Given the description of an element on the screen output the (x, y) to click on. 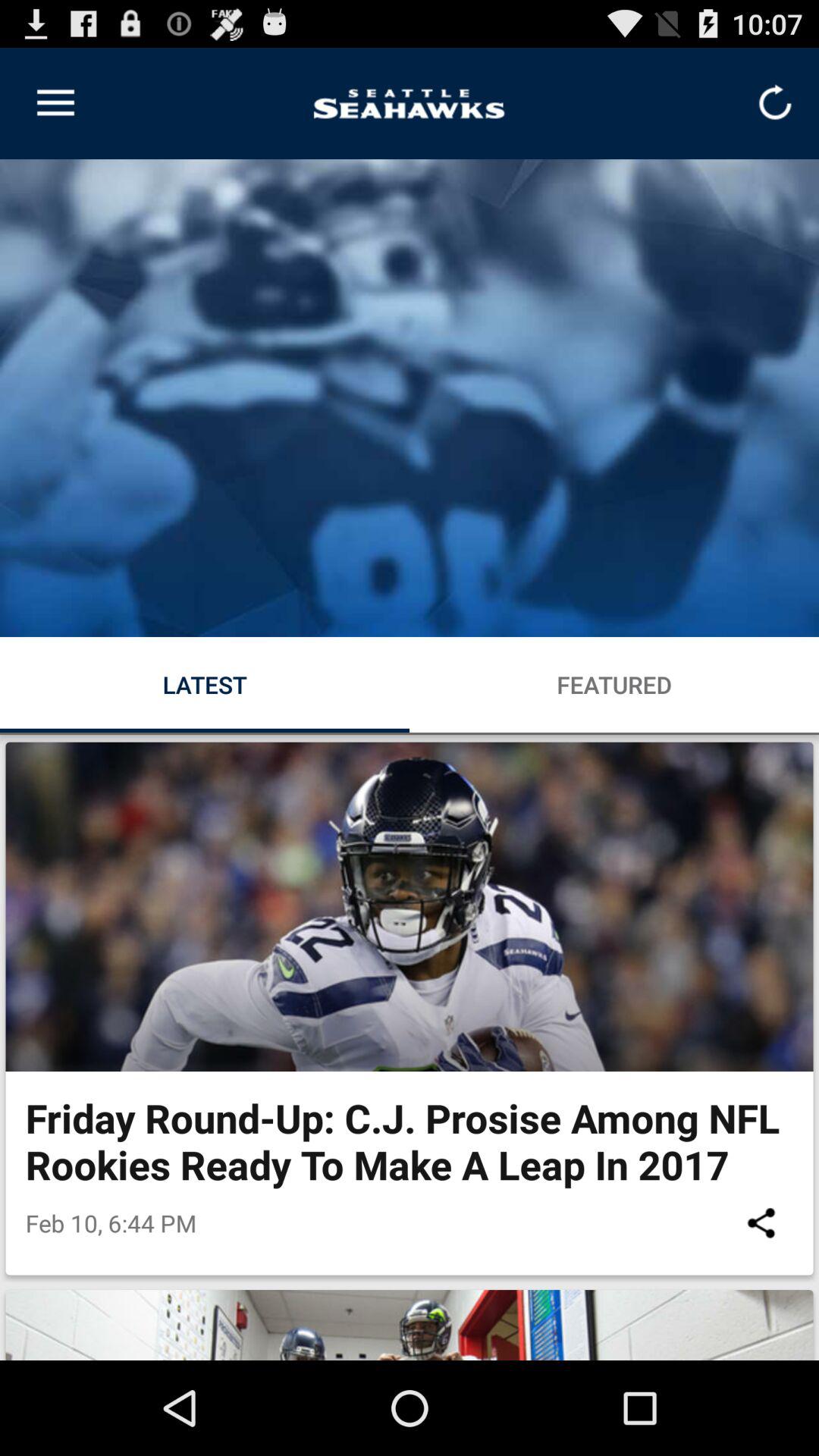
open the icon at the bottom right corner (761, 1222)
